Given the description of an element on the screen output the (x, y) to click on. 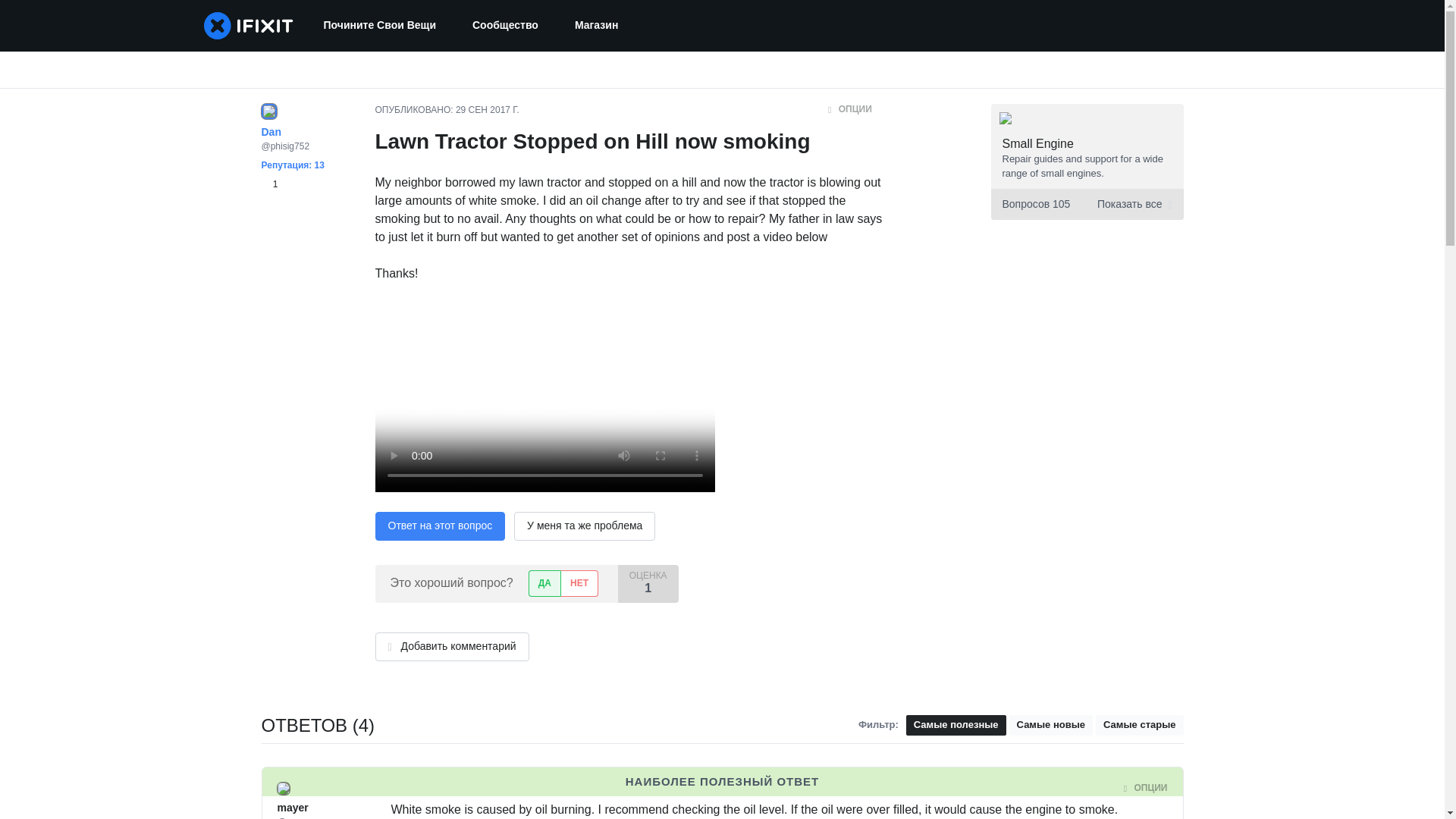
Small Engine (1038, 143)
1 (269, 184)
Fri, 29 Sep 2017 08:53:11 -0700 (503, 787)
Fri, 29 Sep 2017 06:11:36 -0700 (487, 109)
